Given the description of an element on the screen output the (x, y) to click on. 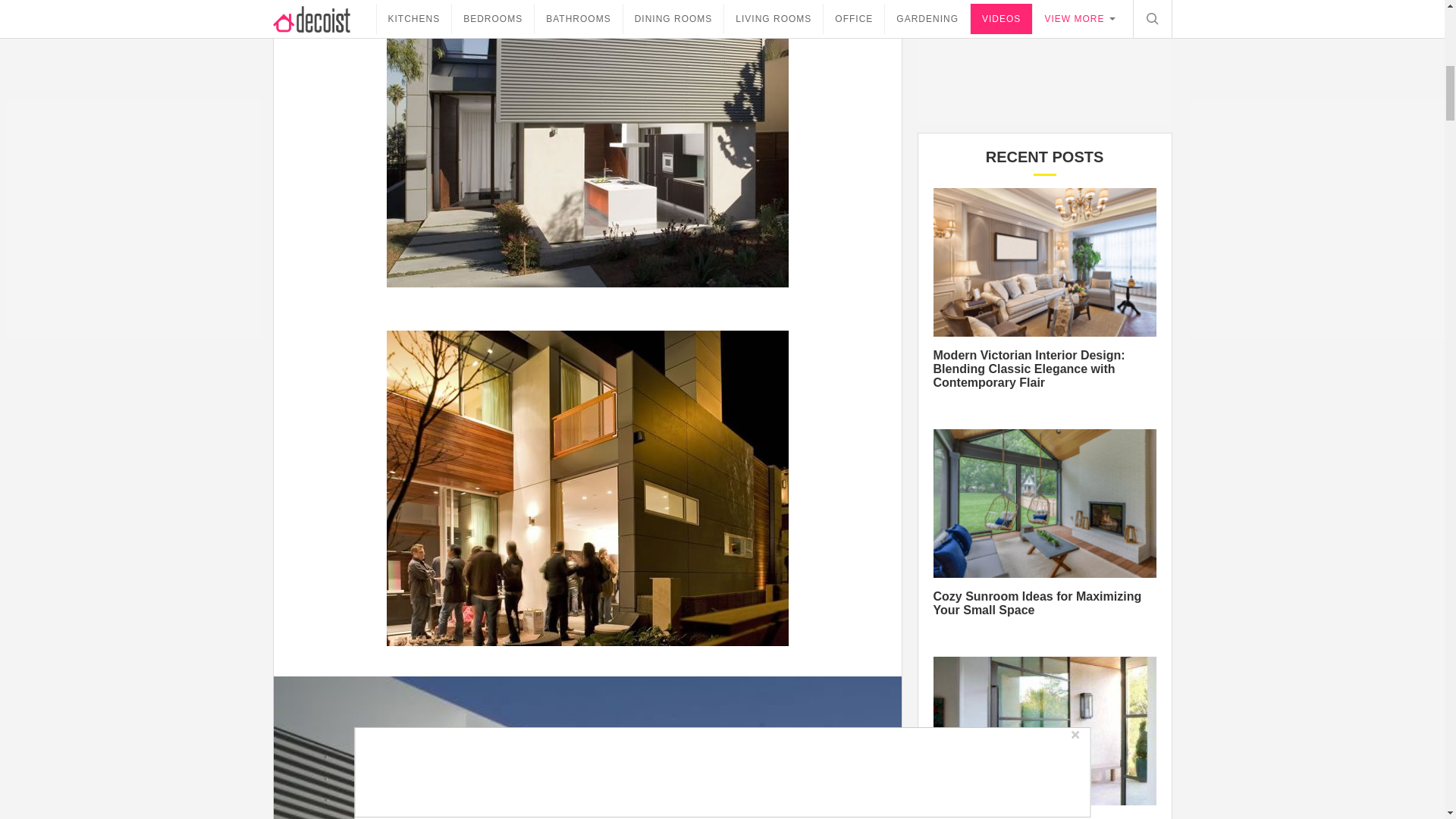
kuhlhaus-02-home-1 (588, 143)
kuhlhaus-02-home (587, 747)
kuhlhaus-02-home-11 (588, 488)
